Given the description of an element on the screen output the (x, y) to click on. 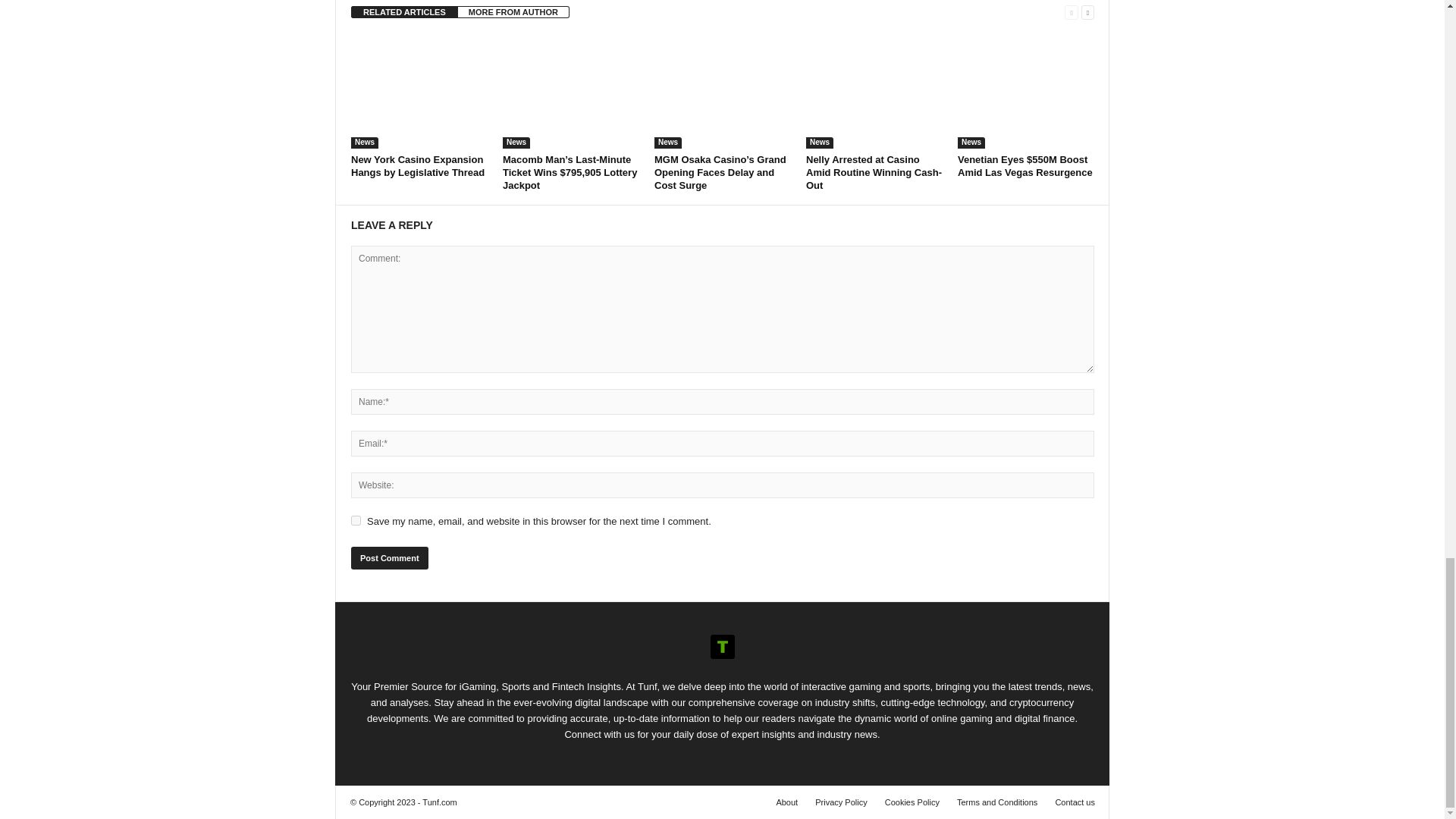
yes (355, 520)
Post Comment (389, 558)
New York Casino Expansion Hangs by Legislative Thread (417, 165)
News (667, 142)
RELATED ARTICLES (404, 11)
News (515, 142)
MORE FROM AUTHOR (513, 11)
News (364, 142)
